Given the description of an element on the screen output the (x, y) to click on. 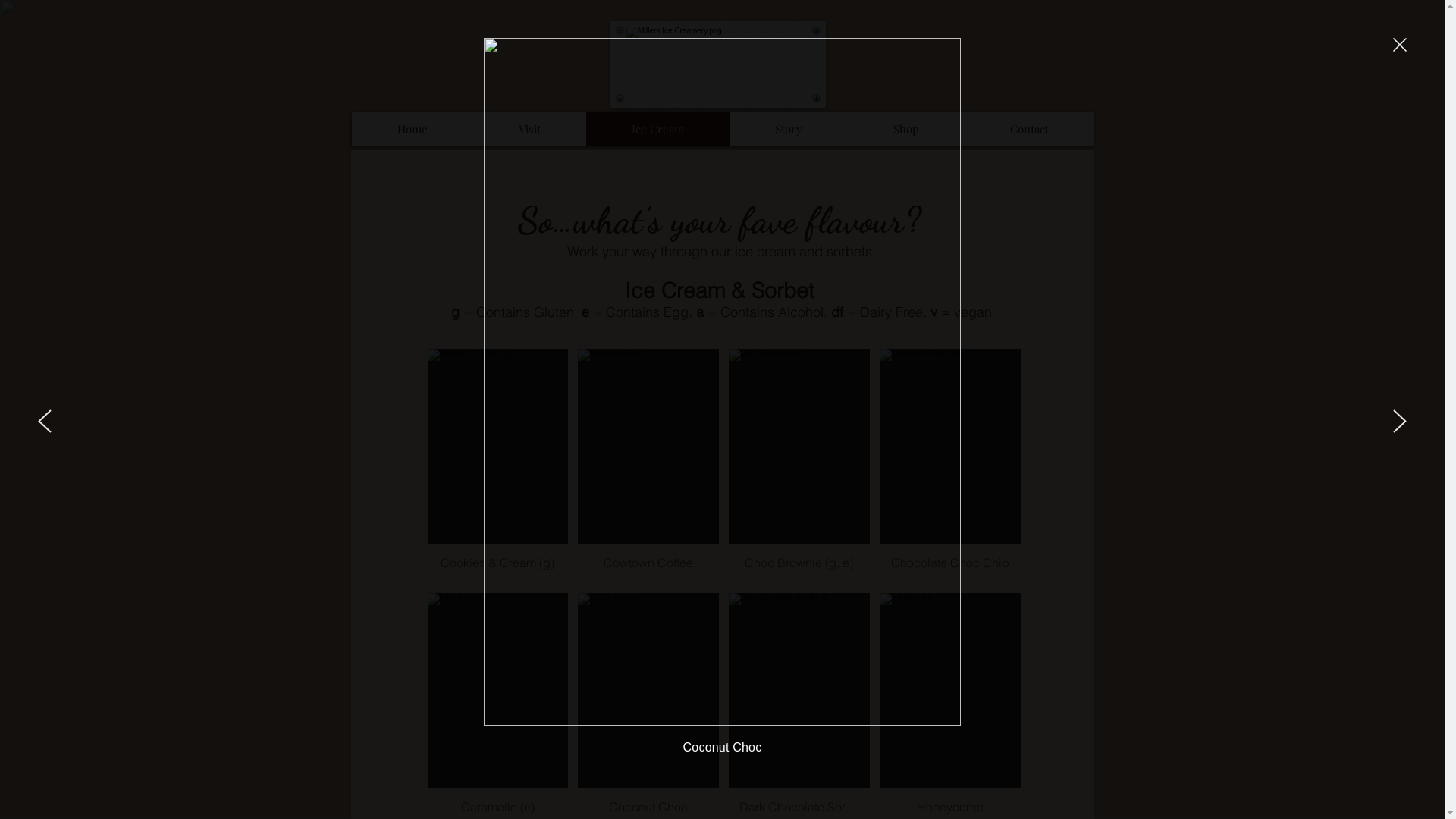
Story Element type: text (788, 129)
Contact Element type: text (1029, 129)
Home Element type: text (412, 129)
Shop Element type: text (905, 129)
Ice Cream Element type: text (656, 129)
Visit Element type: text (529, 129)
